Given the description of an element on the screen output the (x, y) to click on. 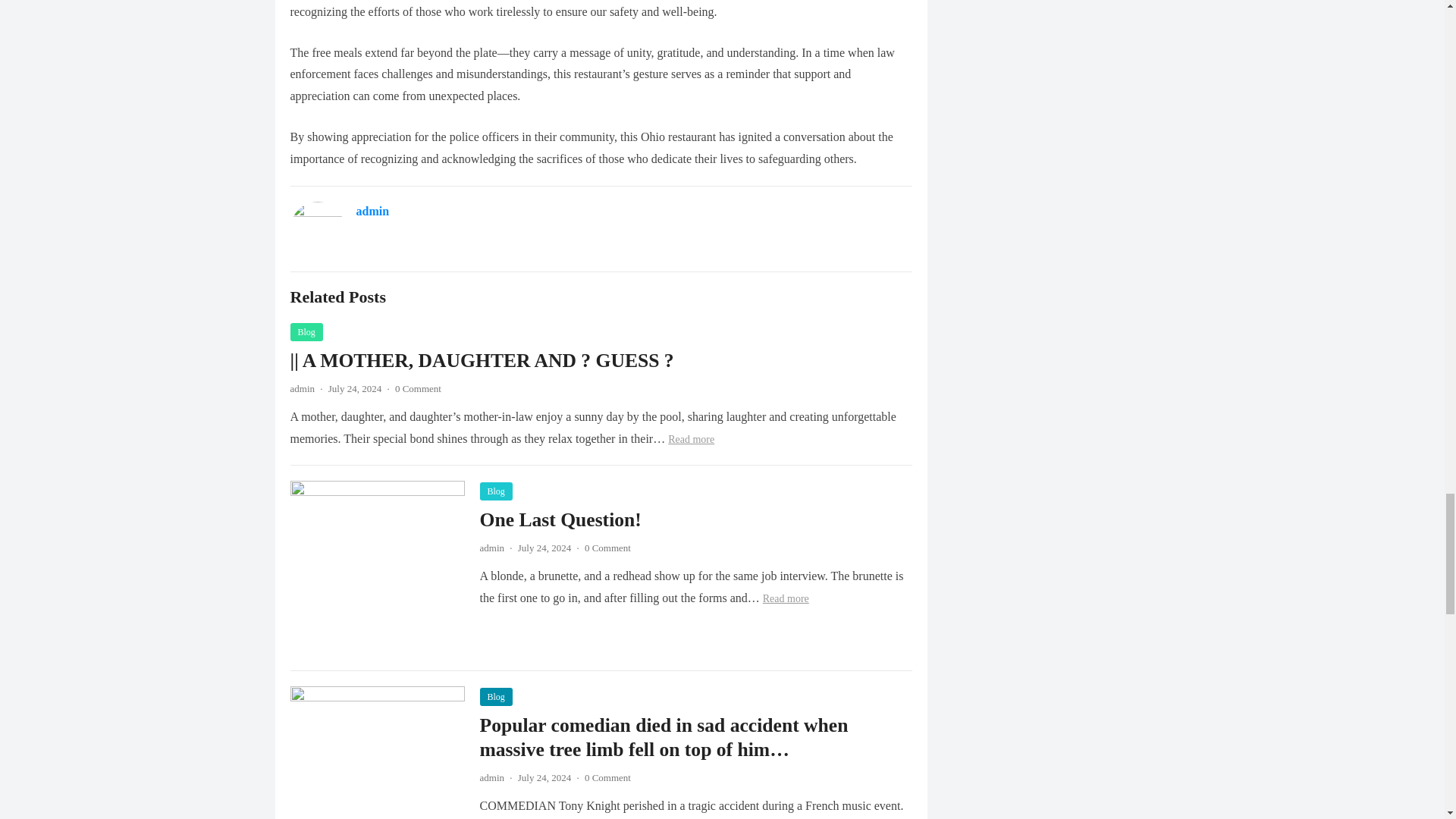
admin (491, 777)
Read more (691, 439)
Blog (495, 491)
0 Comment (607, 547)
Blog (305, 331)
One Last Question! (559, 519)
0 Comment (607, 777)
Read more (785, 598)
Posts by admin (491, 777)
admin (491, 547)
Posts by admin (491, 547)
Blog (495, 696)
Posts by admin (301, 388)
admin (301, 388)
admin (373, 210)
